Given the description of an element on the screen output the (x, y) to click on. 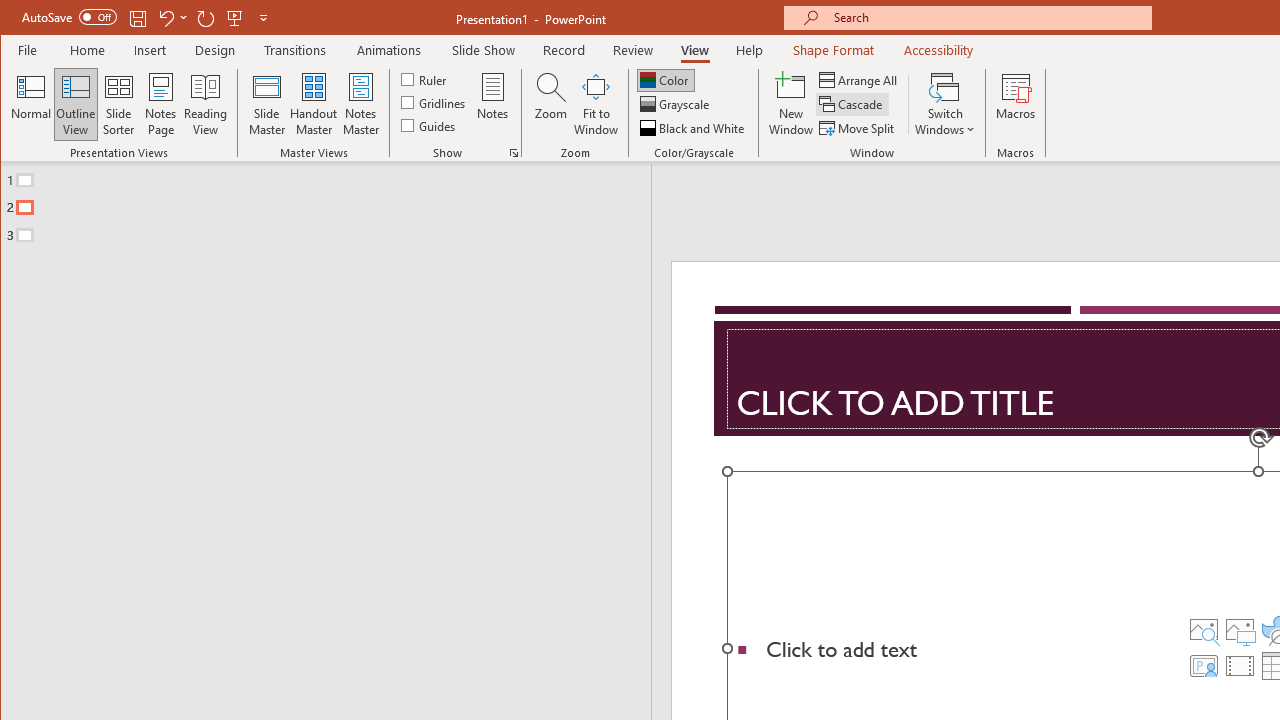
Gridlines (435, 101)
Pictures (1239, 629)
Stock Images (1203, 629)
Switch Windows (944, 104)
Move Split (858, 127)
New Window (791, 104)
Ruler (425, 78)
Notes Master (360, 104)
